Given the description of an element on the screen output the (x, y) to click on. 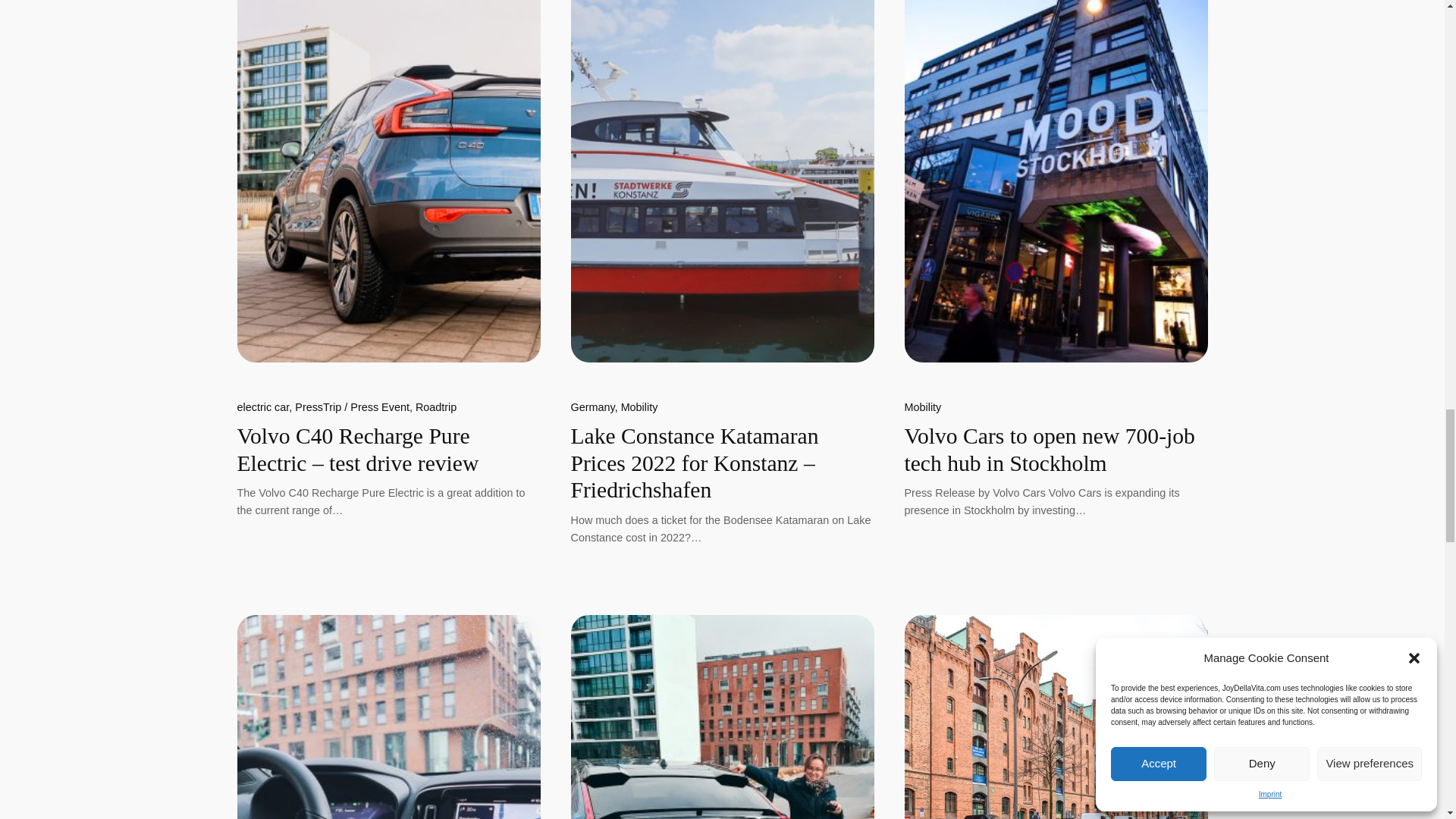
Volvo Cars to open new 700-job tech hub in Stockholm 31 (1055, 181)
Free parking in Hamburg with an electric car 38 (1055, 717)
Volvo C40 Recharge Pure Electric - test drive review 19 (387, 181)
